Given the description of an element on the screen output the (x, y) to click on. 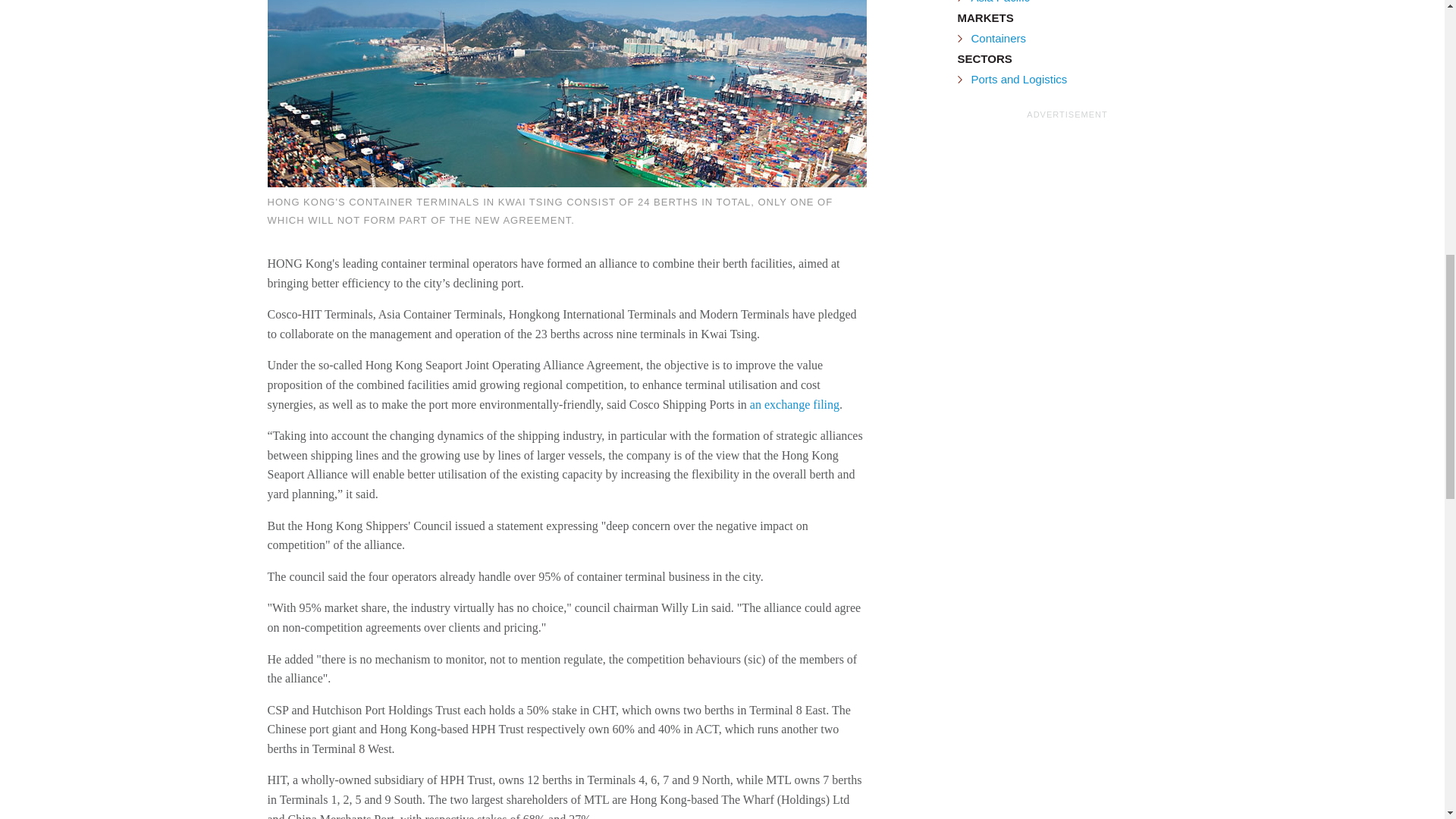
3rd party ad content (1070, 217)
